Given the description of an element on the screen output the (x, y) to click on. 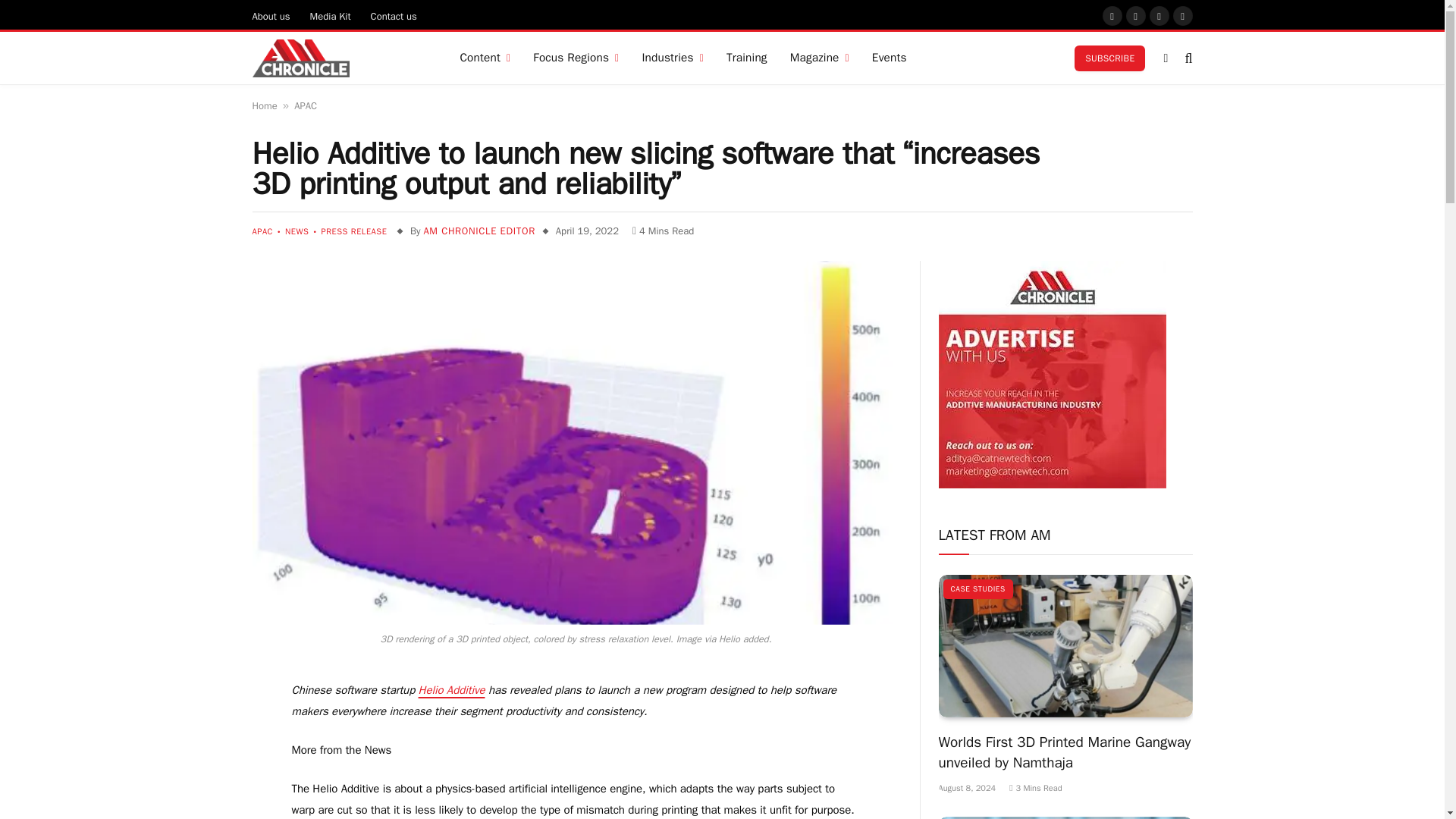
Instagram (1135, 15)
Content (484, 57)
AM Chronicle (300, 58)
Contact us (393, 15)
Facebook (1112, 15)
LinkedIn (1182, 15)
Media Kit (330, 15)
About us (271, 15)
YouTube (1159, 15)
